Given the description of an element on the screen output the (x, y) to click on. 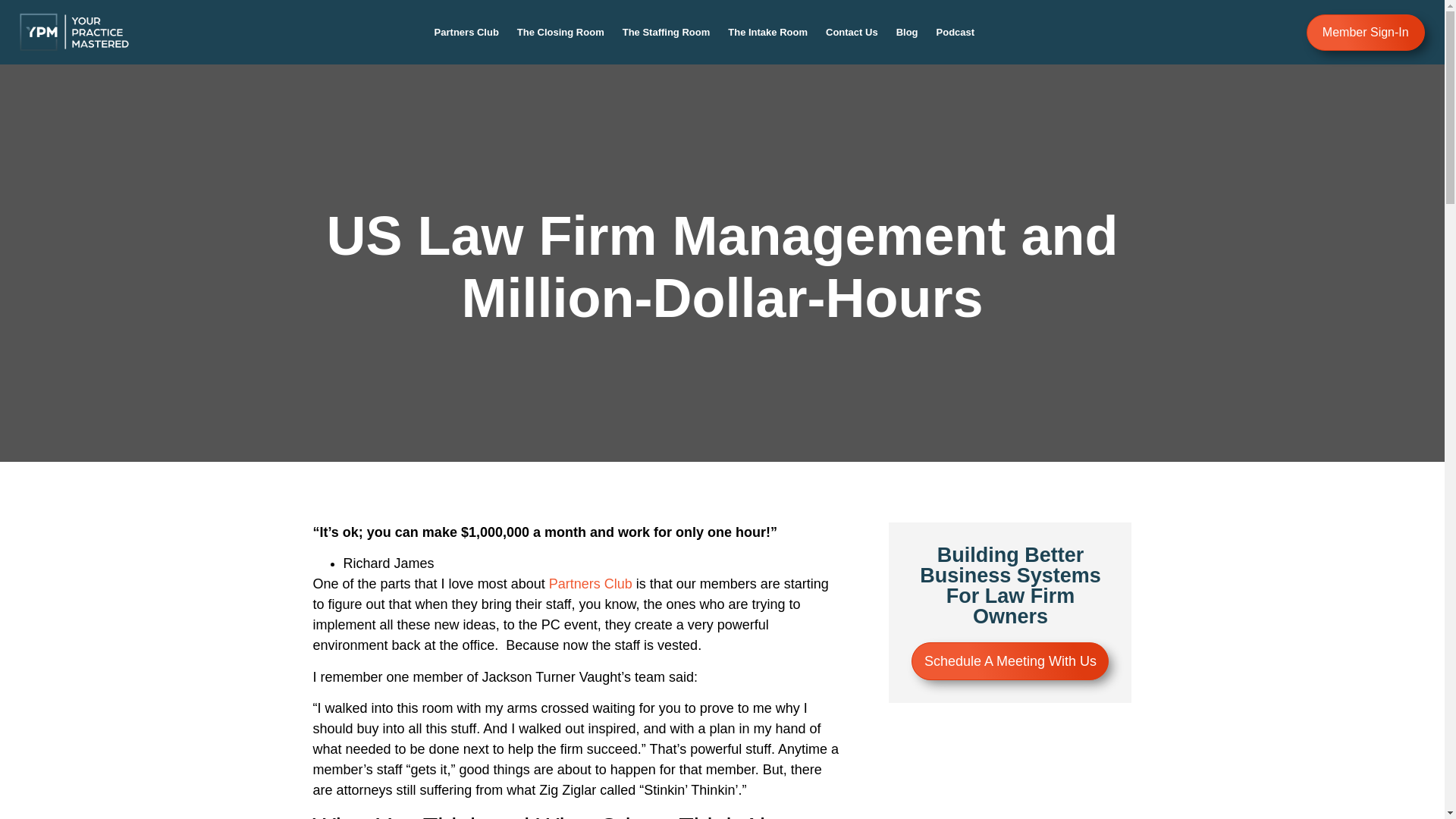
Partners Club (466, 31)
Partners Club (589, 583)
The Intake Room (767, 31)
The Staffing Room (665, 31)
Contact Us (851, 31)
Blog (906, 31)
Podcast (955, 31)
Member Sign-In (1365, 31)
Schedule A Meeting With Us (1009, 661)
The Closing Room (560, 31)
